Given the description of an element on the screen output the (x, y) to click on. 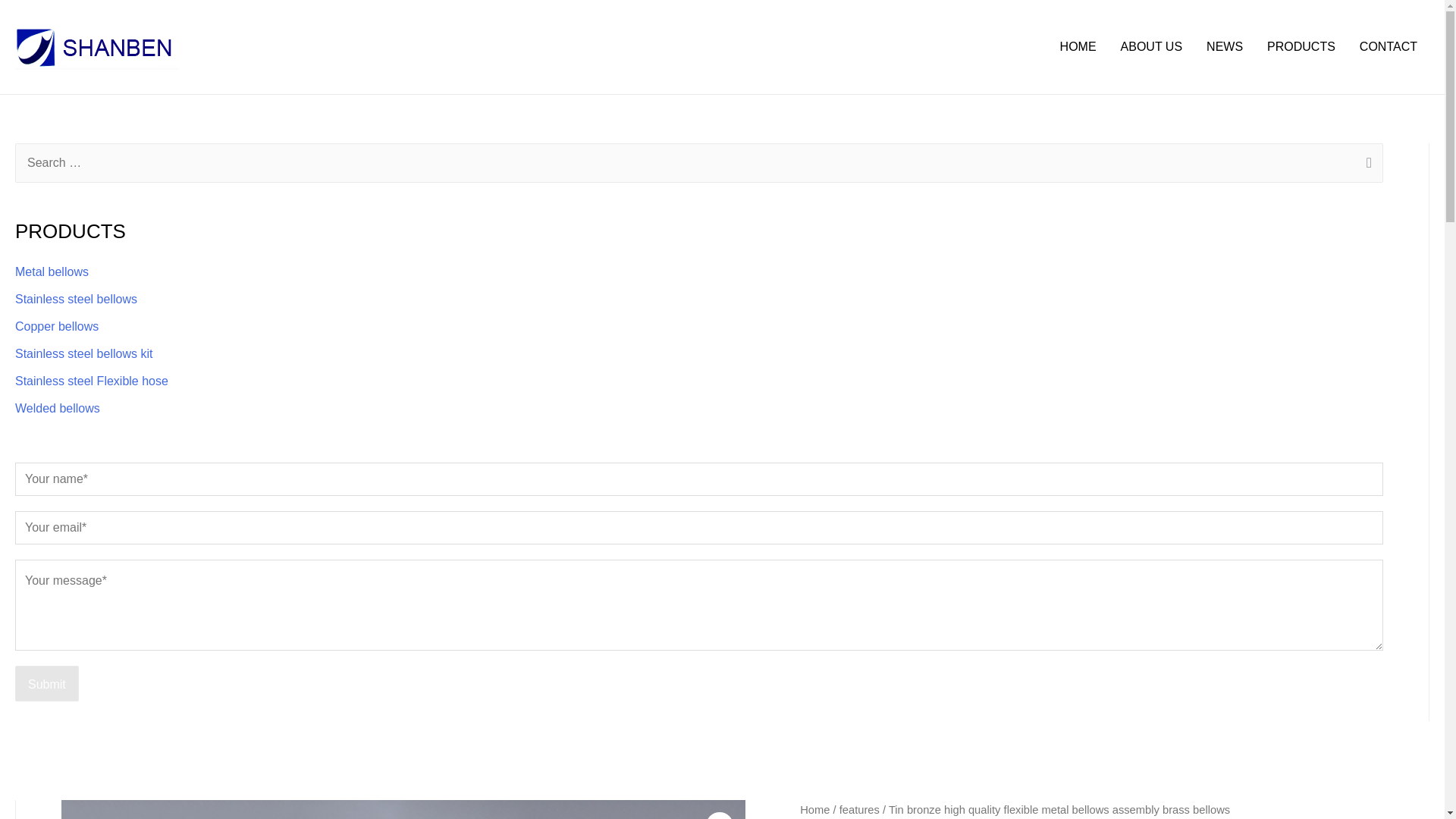
Stainless steel bellows kit (83, 353)
Stainless steel bellows (75, 298)
features (859, 809)
Welded bellows (57, 408)
Stainless steel Flexible hose (91, 380)
ABOUT US (1151, 46)
HOME (1078, 46)
Home (814, 809)
Metal bellows (51, 271)
CONTACT (1388, 46)
